Given the description of an element on the screen output the (x, y) to click on. 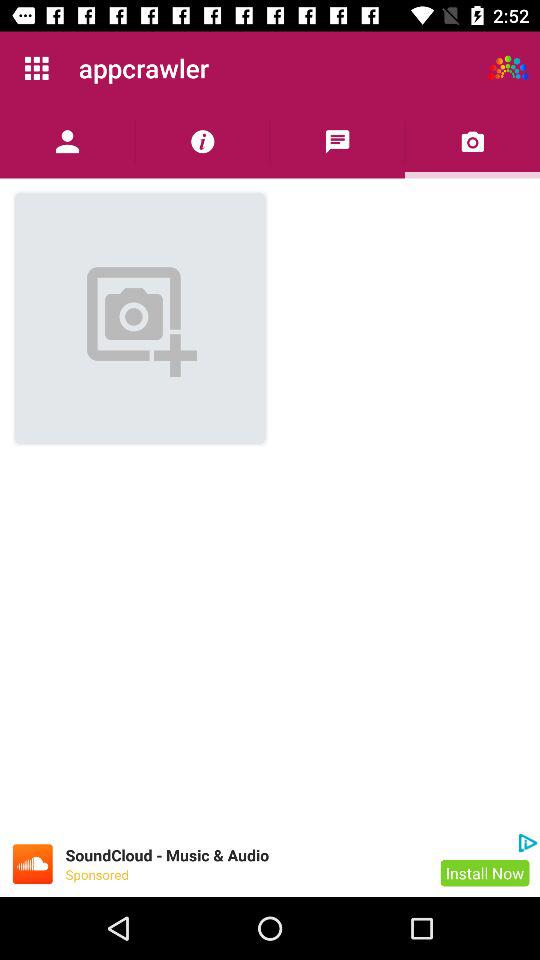
go to advertisement page (32, 863)
